Given the description of an element on the screen output the (x, y) to click on. 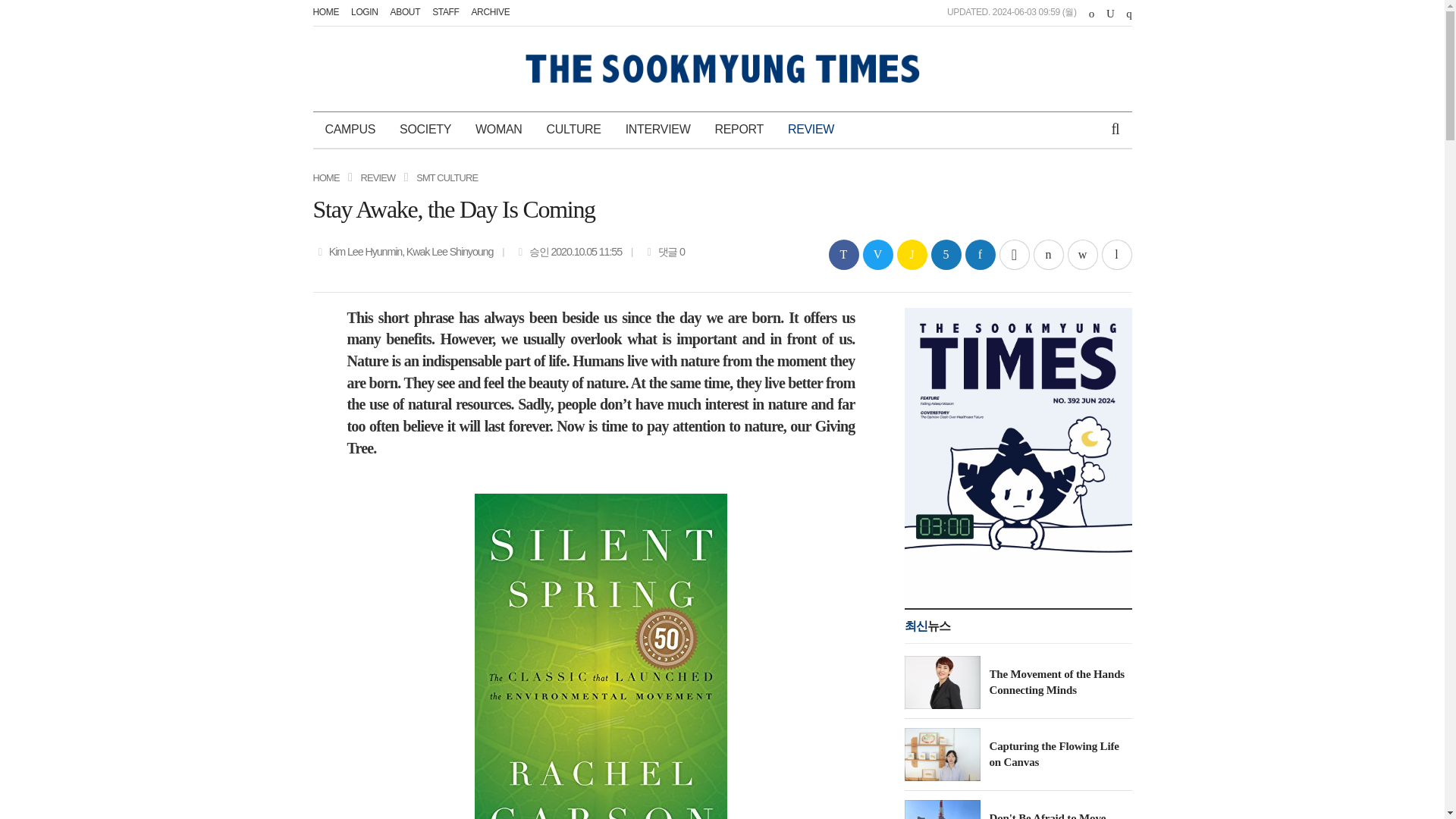
HOME (326, 11)
